Given the description of an element on the screen output the (x, y) to click on. 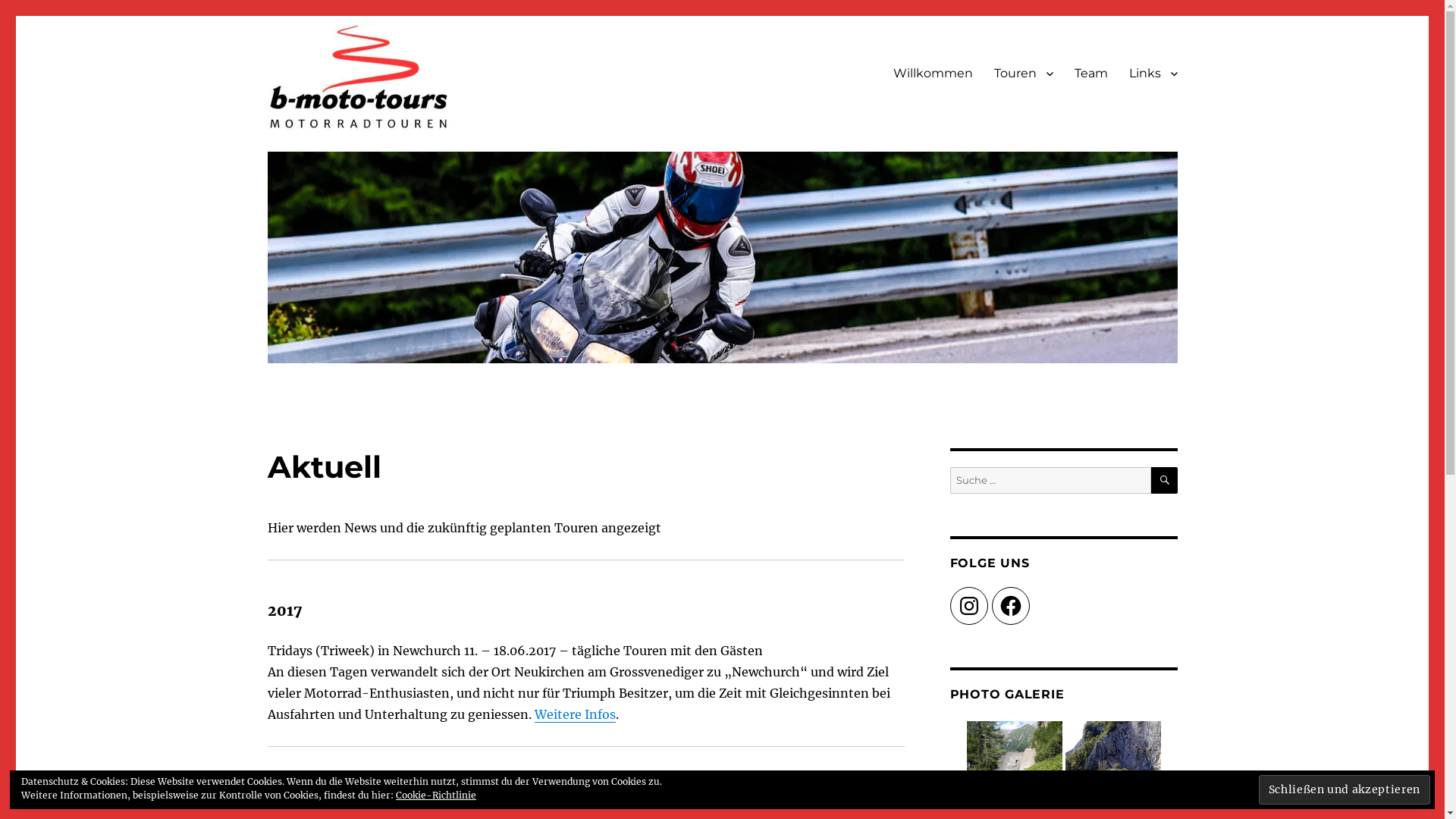
b-moto-tours Element type: text (340, 153)
Weitere Infos Element type: text (574, 713)
Facebook Element type: text (1010, 605)
Links Element type: text (1152, 73)
SUCHEN Element type: text (1164, 480)
Team Element type: text (1090, 73)
Cookie-Richtlinie Element type: text (435, 794)
Touren Element type: text (1022, 73)
Willkommen Element type: text (932, 73)
Instagram Element type: text (968, 605)
Frankreich Element type: hover (1112, 768)
Schweiz Element type: hover (1014, 768)
